Given the description of an element on the screen output the (x, y) to click on. 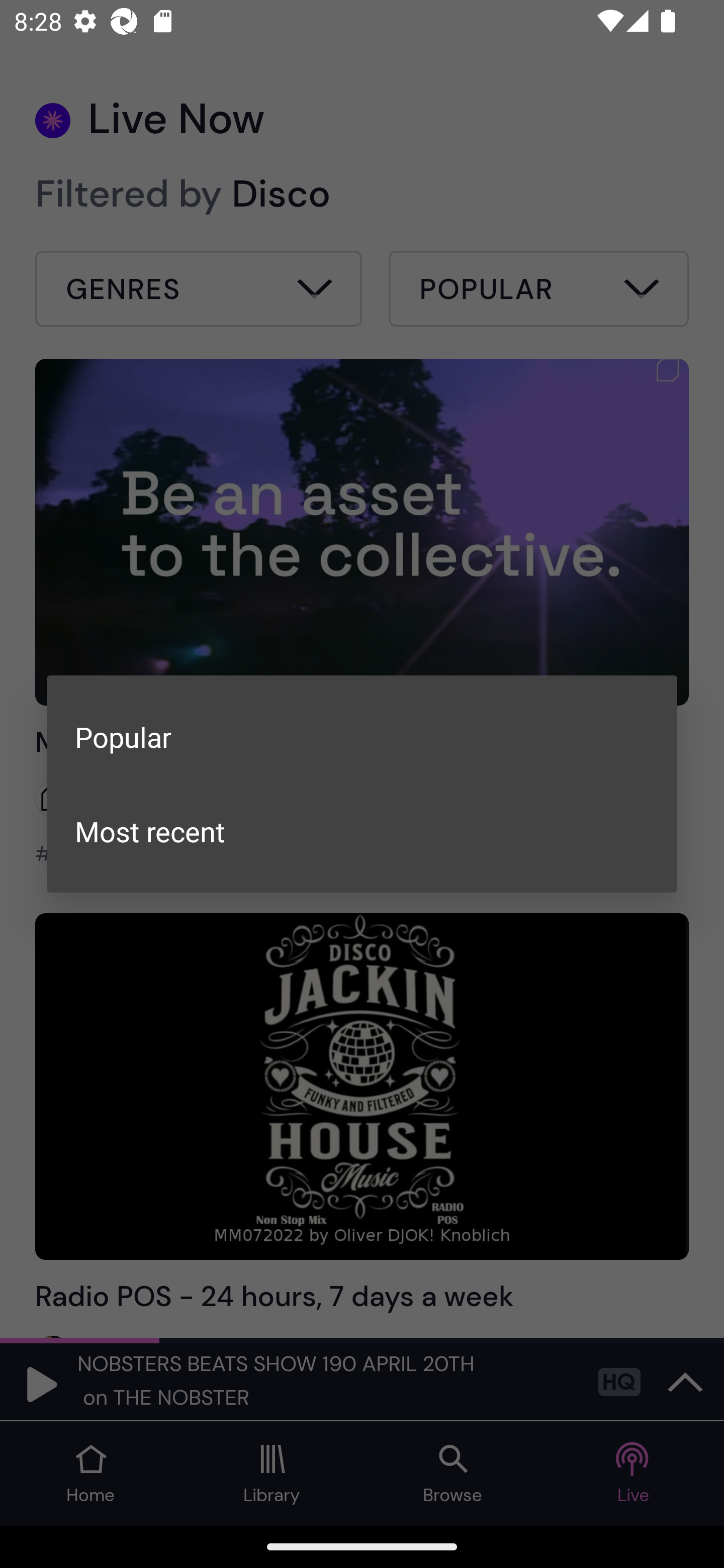
Popular (361, 736)
Most recent (361, 831)
